Given the description of an element on the screen output the (x, y) to click on. 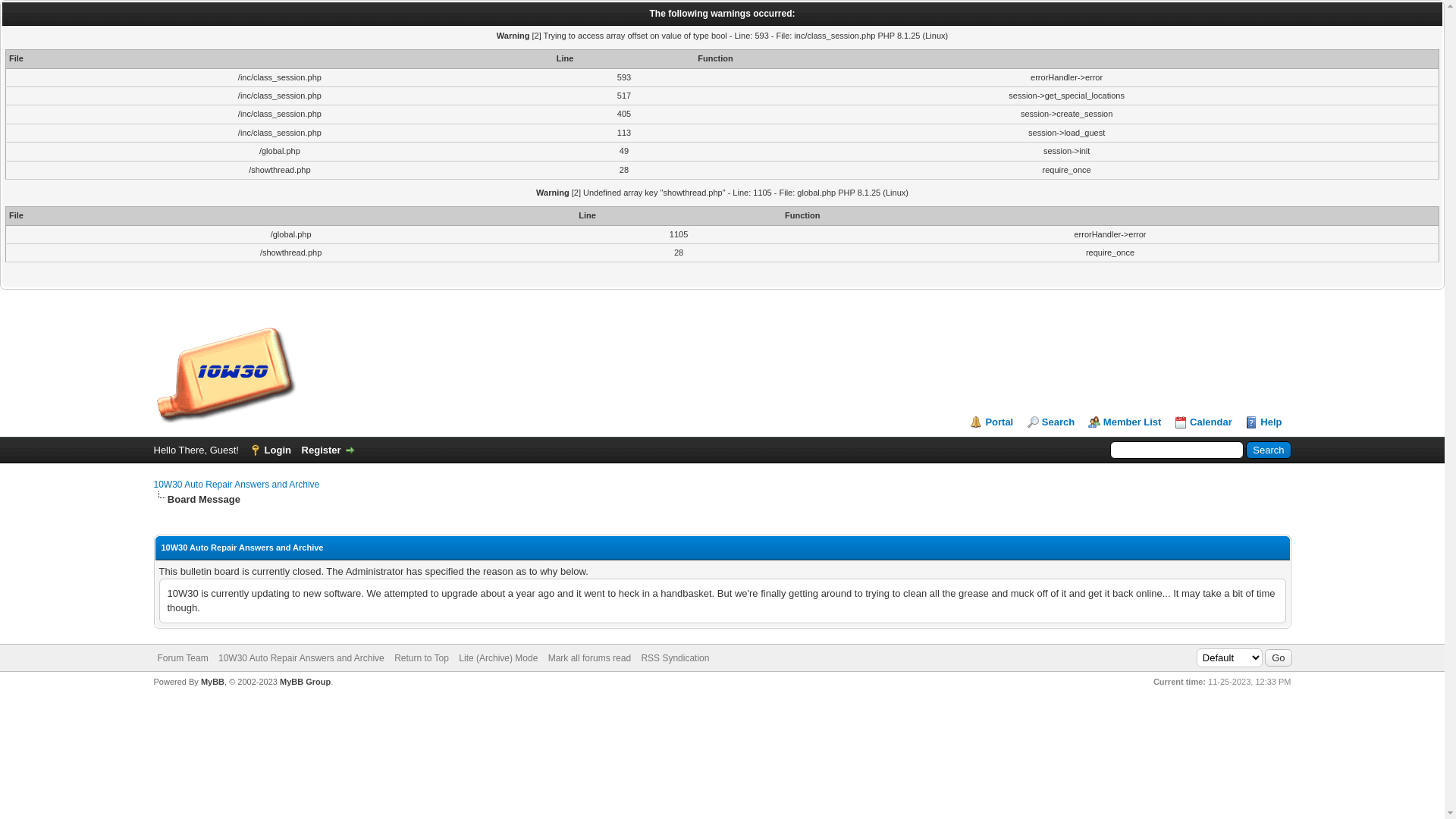
MyBB Element type: text (212, 681)
Search Element type: text (1050, 422)
10W30 Auto Repair Answers and Archive Element type: text (301, 657)
Register Element type: text (328, 449)
Portal Element type: text (991, 422)
10W30 Auto Repair Answers and Archive Element type: hover (225, 373)
Lite (Archive) Mode Element type: text (497, 657)
Help Element type: text (1263, 422)
MyBB Group Element type: text (304, 681)
10W30 Auto Repair Answers and Archive Element type: text (236, 484)
Return to Top Element type: text (421, 657)
Mark all forums read Element type: text (589, 657)
Go Element type: text (1277, 657)
RSS Syndication Element type: text (674, 657)
Login Element type: text (270, 449)
Search Element type: text (1267, 449)
Calendar Element type: text (1203, 422)
Forum Team Element type: text (182, 657)
Member List Element type: text (1124, 422)
